Given the description of an element on the screen output the (x, y) to click on. 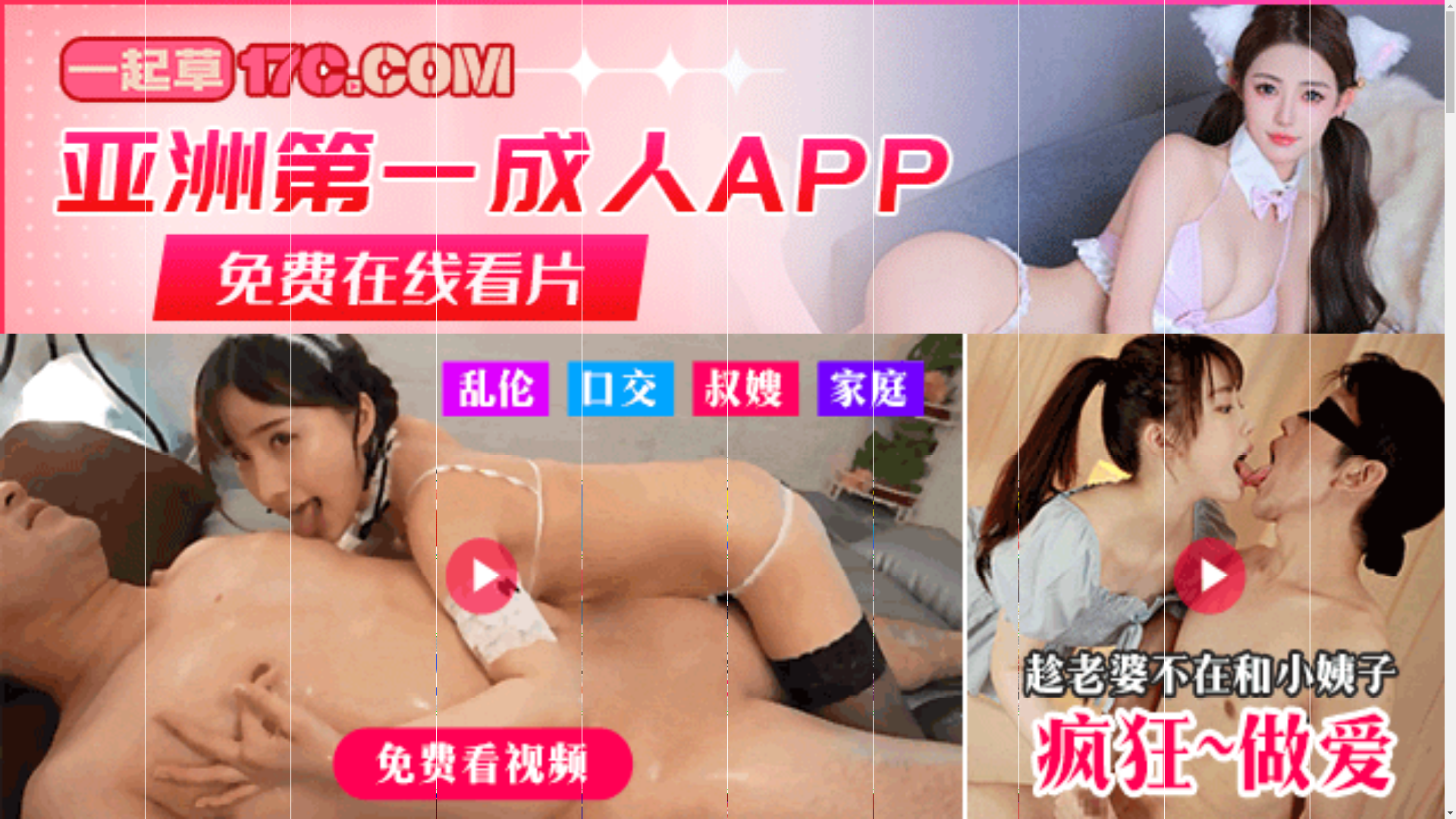
| Element type: text (1425, 471)
| Element type: text (701, 471)
| Element type: text (1400, 471)
| Element type: text (1108, 471)
| Element type: text (1197, 471)
6686 Element type: hover (721, 747)
| Element type: text (1018, 471)
| Element type: text (969, 471)
| Element type: text (1074, 471)
| Element type: text (776, 471)
| Element type: text (1296, 471)
6686 Element type: hover (721, 669)
| Element type: text (883, 471)
| Element type: text (616, 471)
| Element type: text (1143, 471)
| Element type: text (838, 471)
| Element type: text (1338, 471)
| Element type: text (655, 471)
6686 Element type: hover (721, 552)
| Element type: text (740, 471)
| Element type: text (592, 471)
| Element type: text (1253, 471)
| Element type: text (927, 471)
| Element type: text (1372, 471)
